Given the description of an element on the screen output the (x, y) to click on. 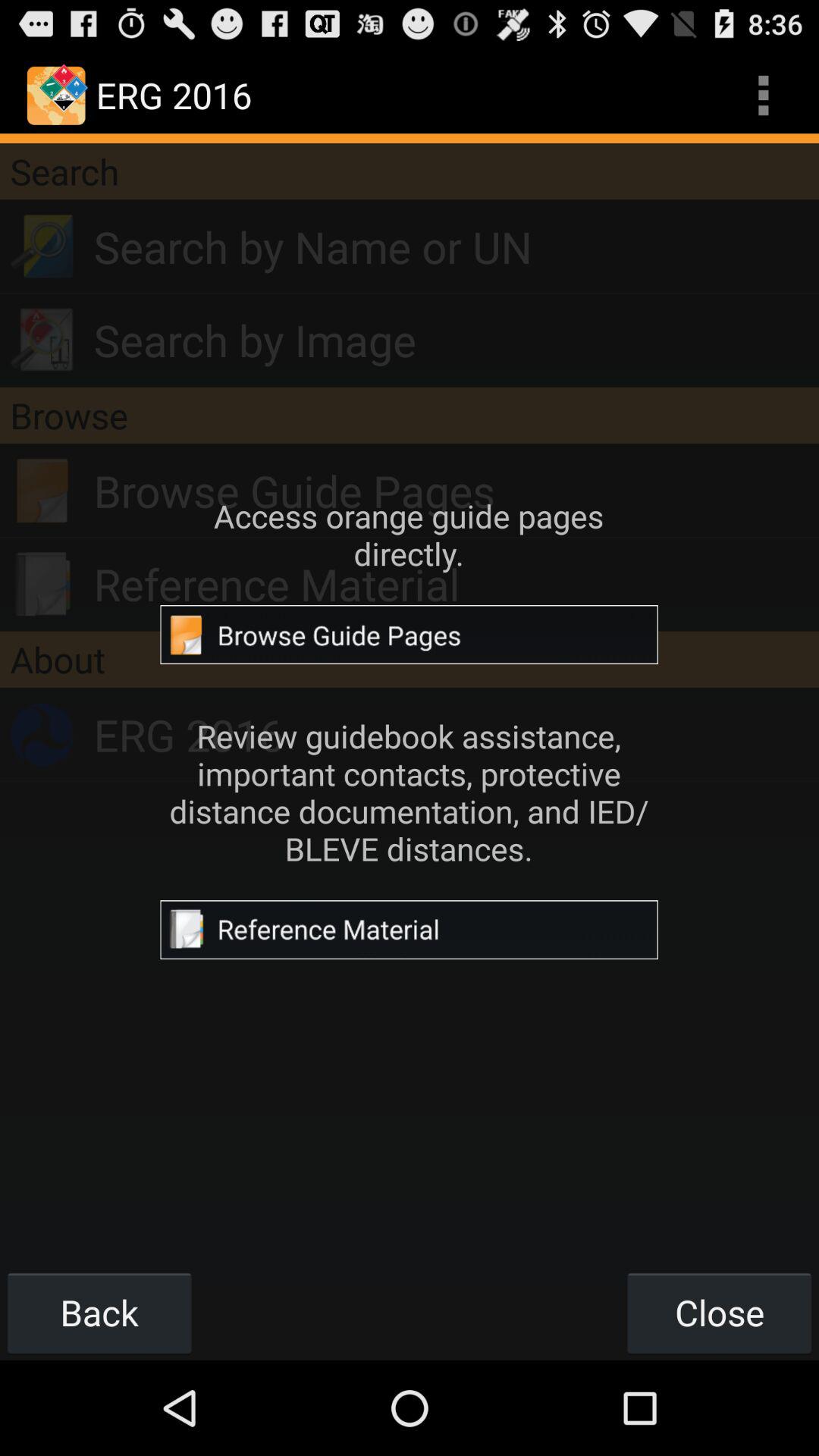
choose button next to the close (99, 1312)
